Given the description of an element on the screen output the (x, y) to click on. 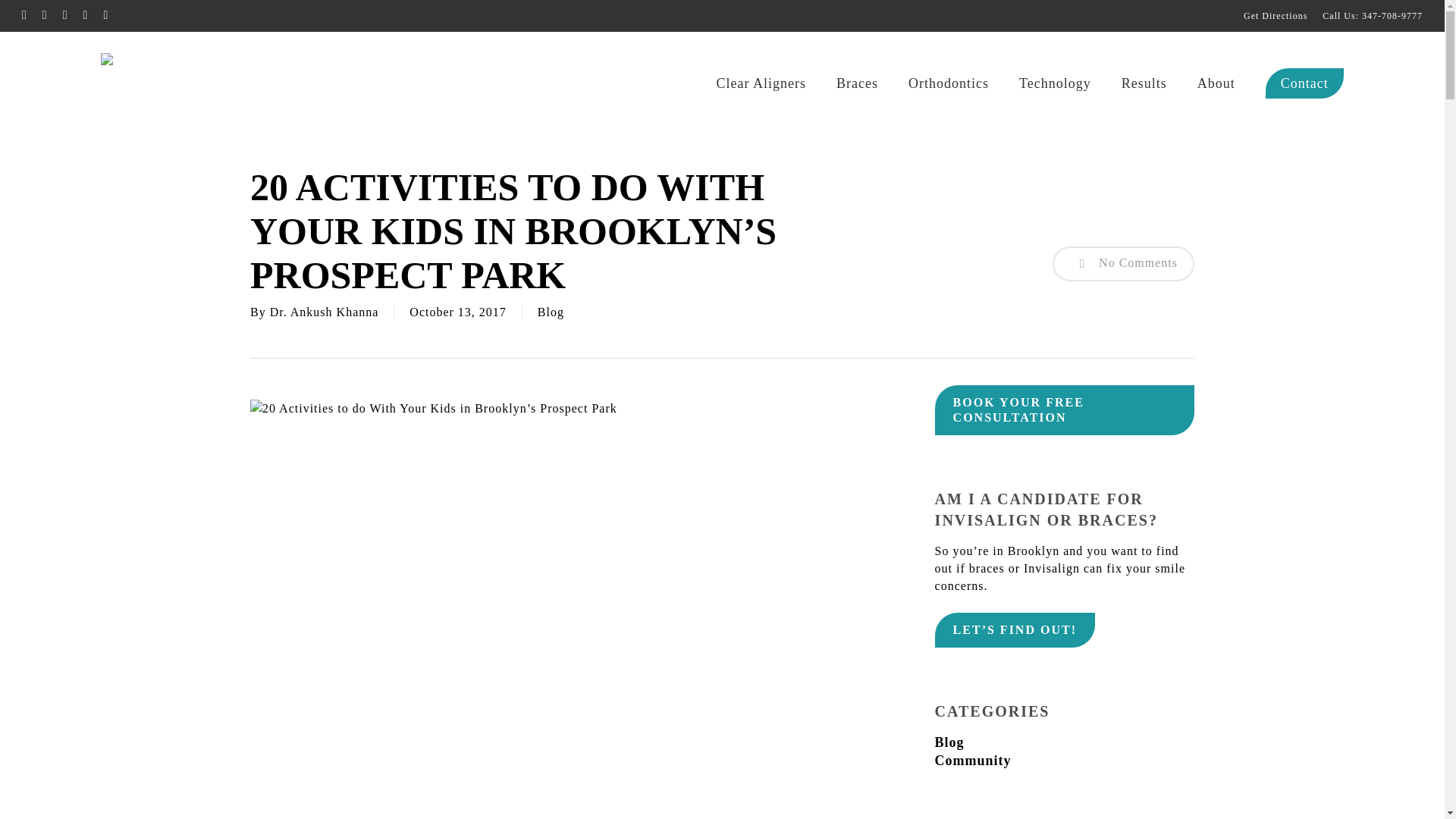
Get Directions (1275, 15)
Posts by Dr. Ankush Khanna (323, 311)
Orthodontics (948, 83)
Results (1144, 83)
Technology (1054, 83)
About (1215, 83)
Braces (856, 83)
Call Us: 347-708-9777 (1372, 15)
Clear Aligners (760, 83)
